Given the description of an element on the screen output the (x, y) to click on. 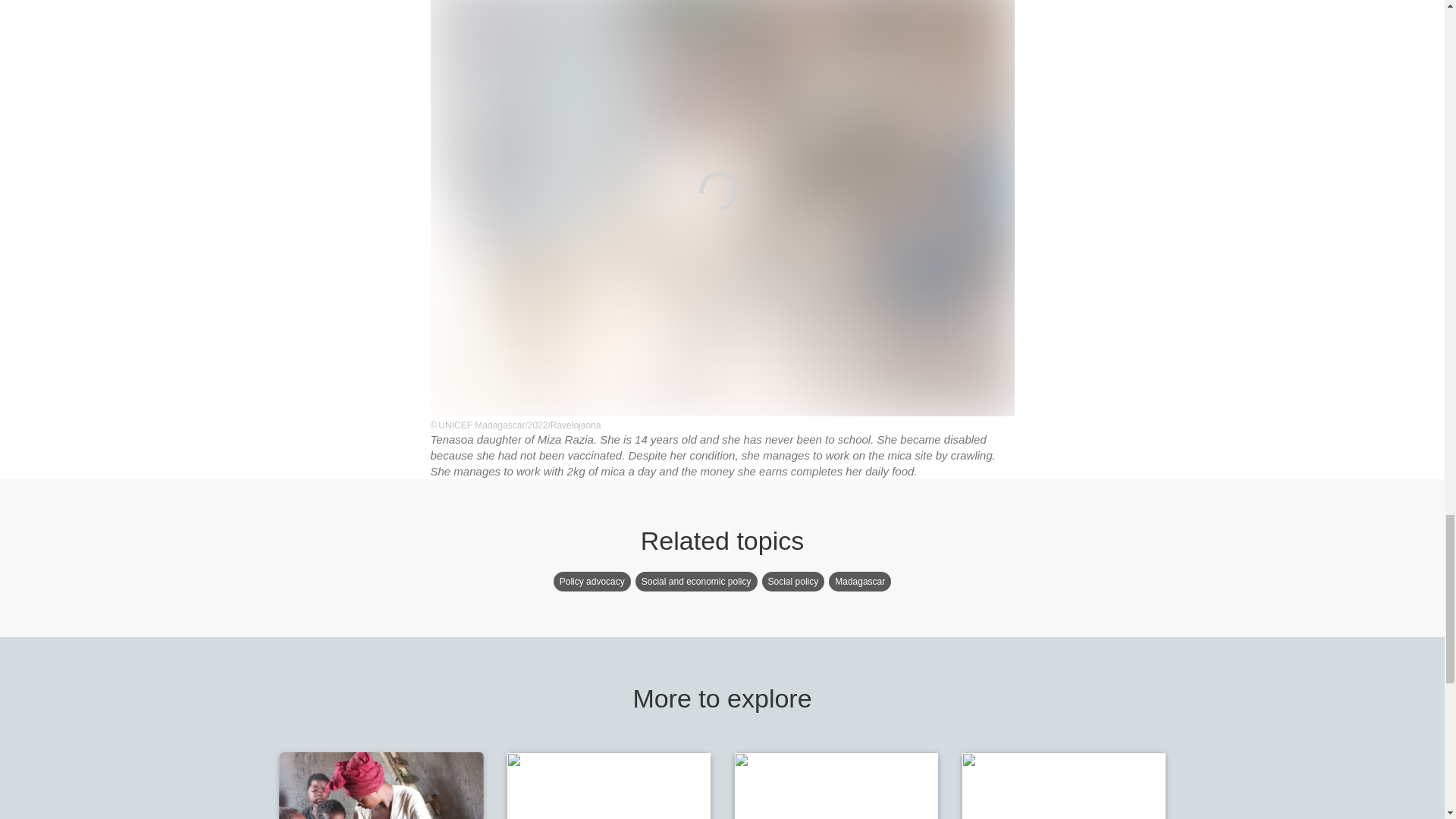
Policy advocacy (591, 581)
Social and economic policy (695, 581)
Children regain their rights with the Zara Mira  (1063, 785)
The accompanying measures of the ZARA MIRA programme (381, 785)
Madagascar (859, 581)
Child benefit, a significant support for vulnerable families (608, 785)
Social policy (793, 581)
